Given the description of an element on the screen output the (x, y) to click on. 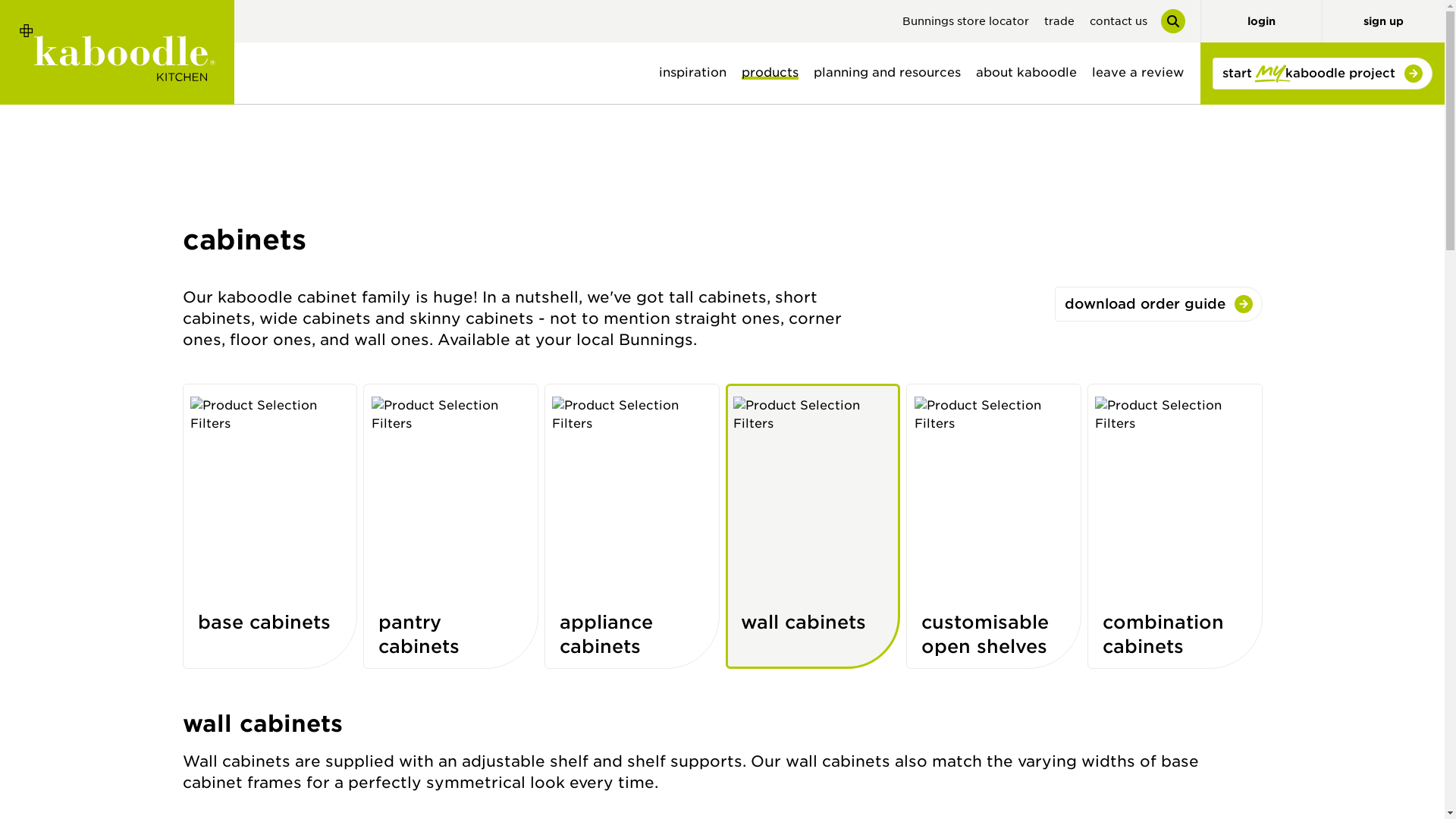
products (769, 72)
contact us (1118, 20)
Bunnings store locator (965, 20)
login (1260, 21)
about kaboodle (1026, 72)
contact us (1118, 20)
planning and resources (887, 72)
Bunnings store locator (965, 20)
inspiration (691, 72)
leave a review (1137, 72)
products (769, 72)
inspiration (691, 72)
